Given the description of an element on the screen output the (x, y) to click on. 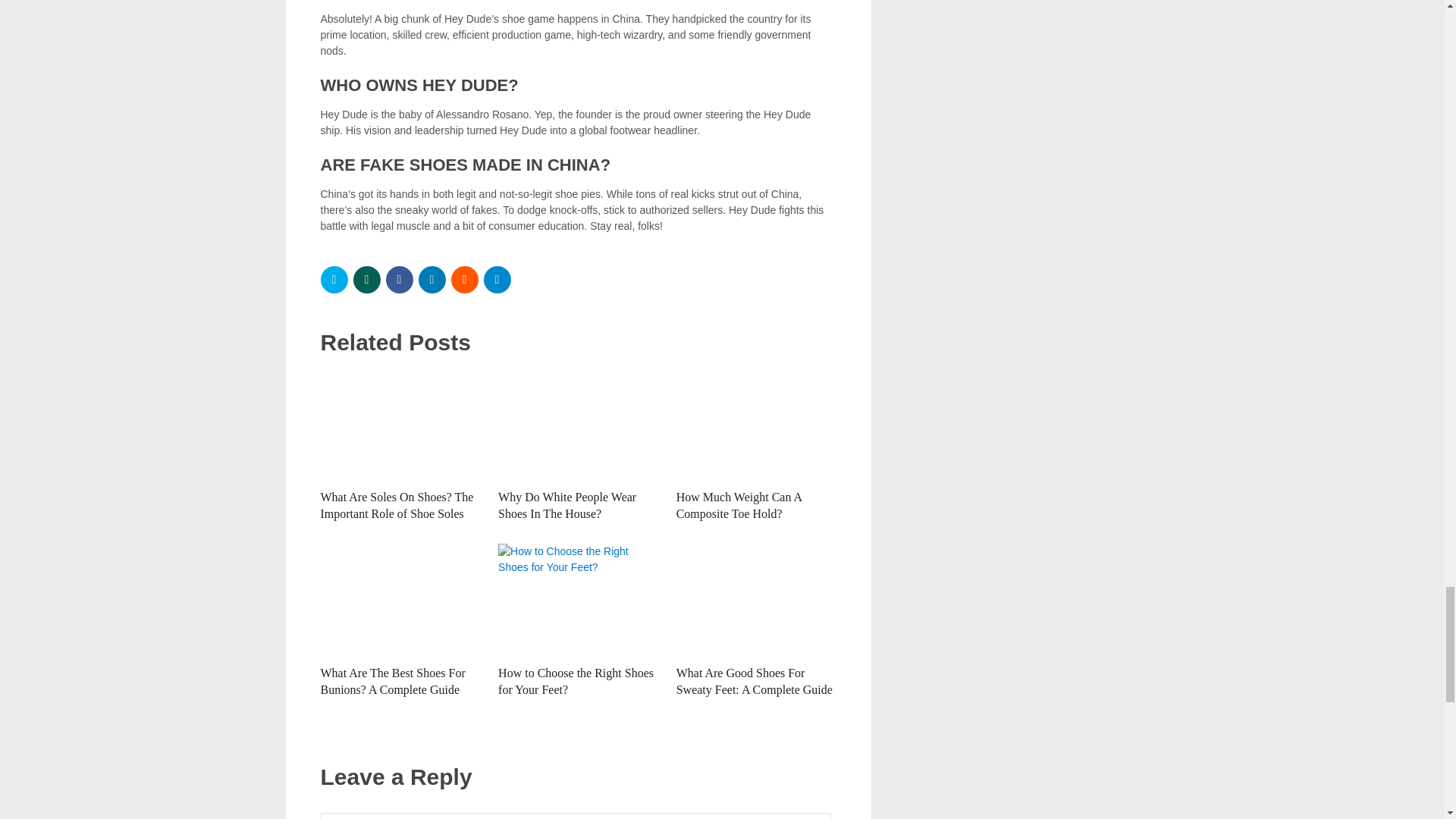
How Much Weight Can A Composite Toe Hold? (756, 424)
What Are The Best Shoes For Bunions? A Complete Guide (400, 600)
Why Do White People Wear Shoes In The House? (566, 505)
How Much Weight Can A Composite Toe Hold? (739, 505)
Why Do White People Wear Shoes In The House? (577, 424)
What Are Soles On Shoes? The Important Role of Shoe Soles (396, 505)
How to Choose the Right Shoes for Your Feet? (577, 600)
What Are The Best Shoes For Bunions? A Complete Guide (392, 681)
What Are Soles On Shoes? The Important Role of Shoe Soles (400, 424)
